Given the description of an element on the screen output the (x, y) to click on. 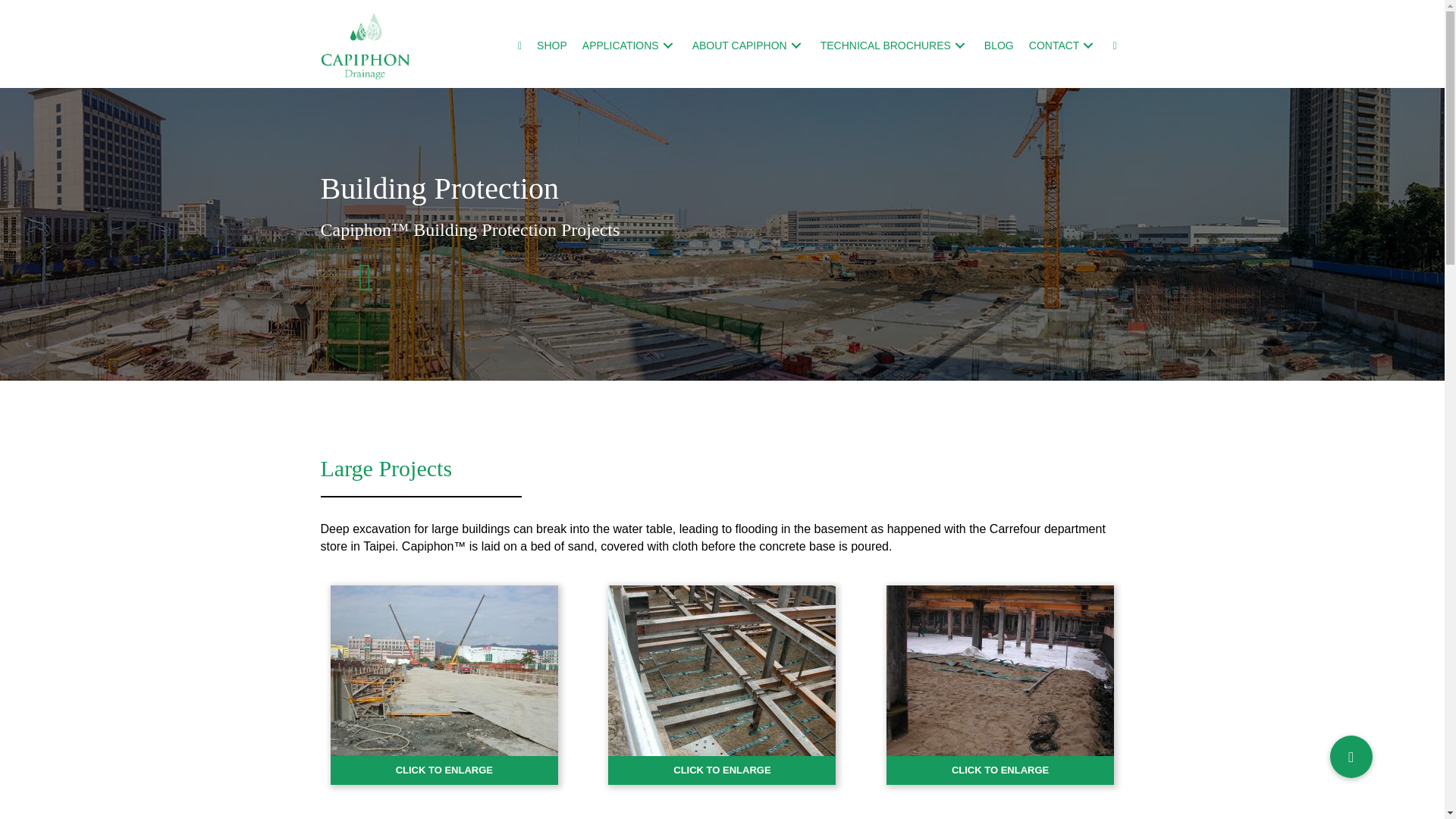
SHOP (552, 45)
BLOG (999, 45)
CONTACT (1063, 45)
ABOUT CAPIPHON (748, 45)
APPLICATIONS (629, 45)
TECHNICAL BROCHURES (894, 45)
logo (365, 45)
